Given the description of an element on the screen output the (x, y) to click on. 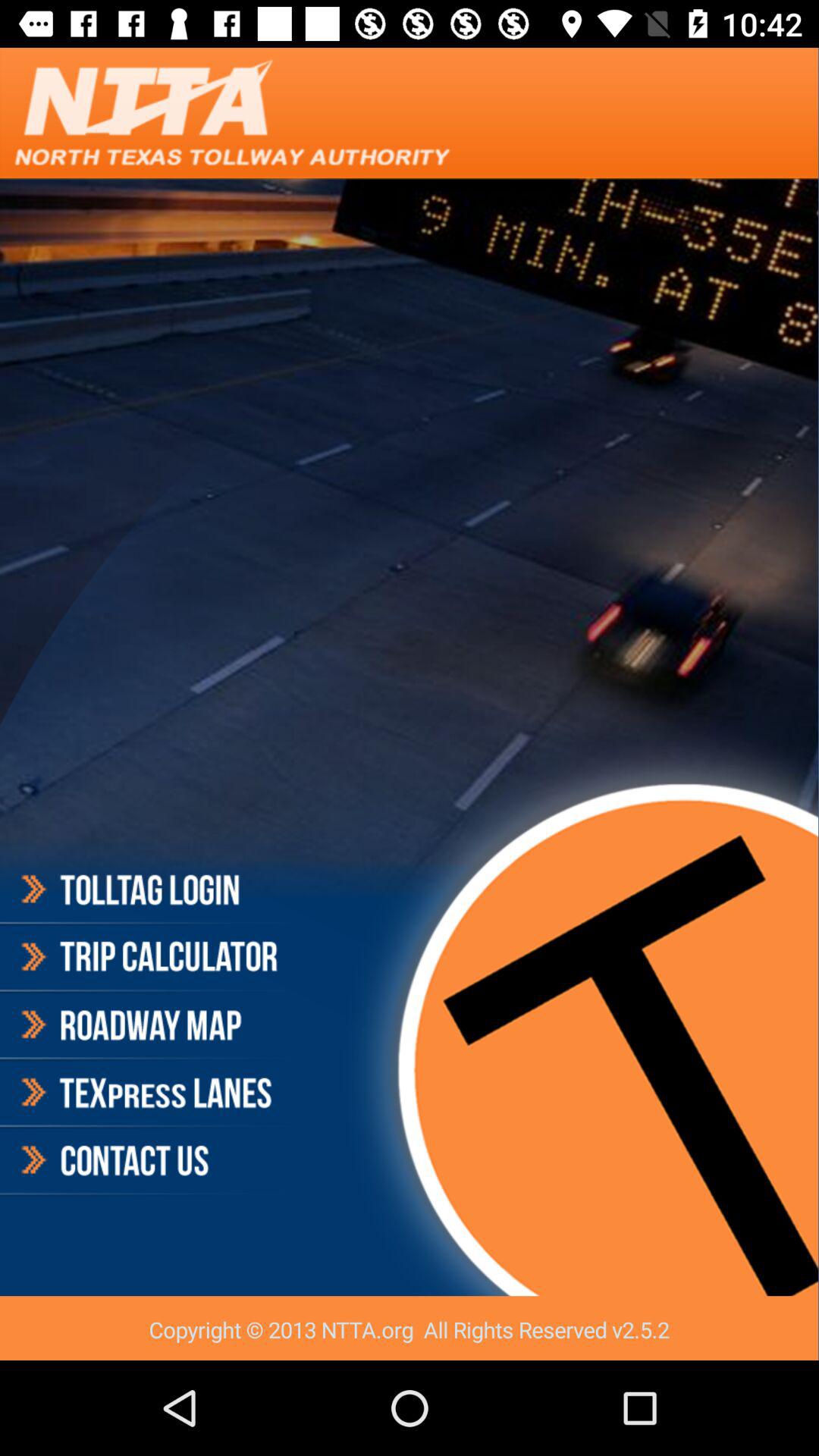
roadway map button (147, 1025)
